Given the description of an element on the screen output the (x, y) to click on. 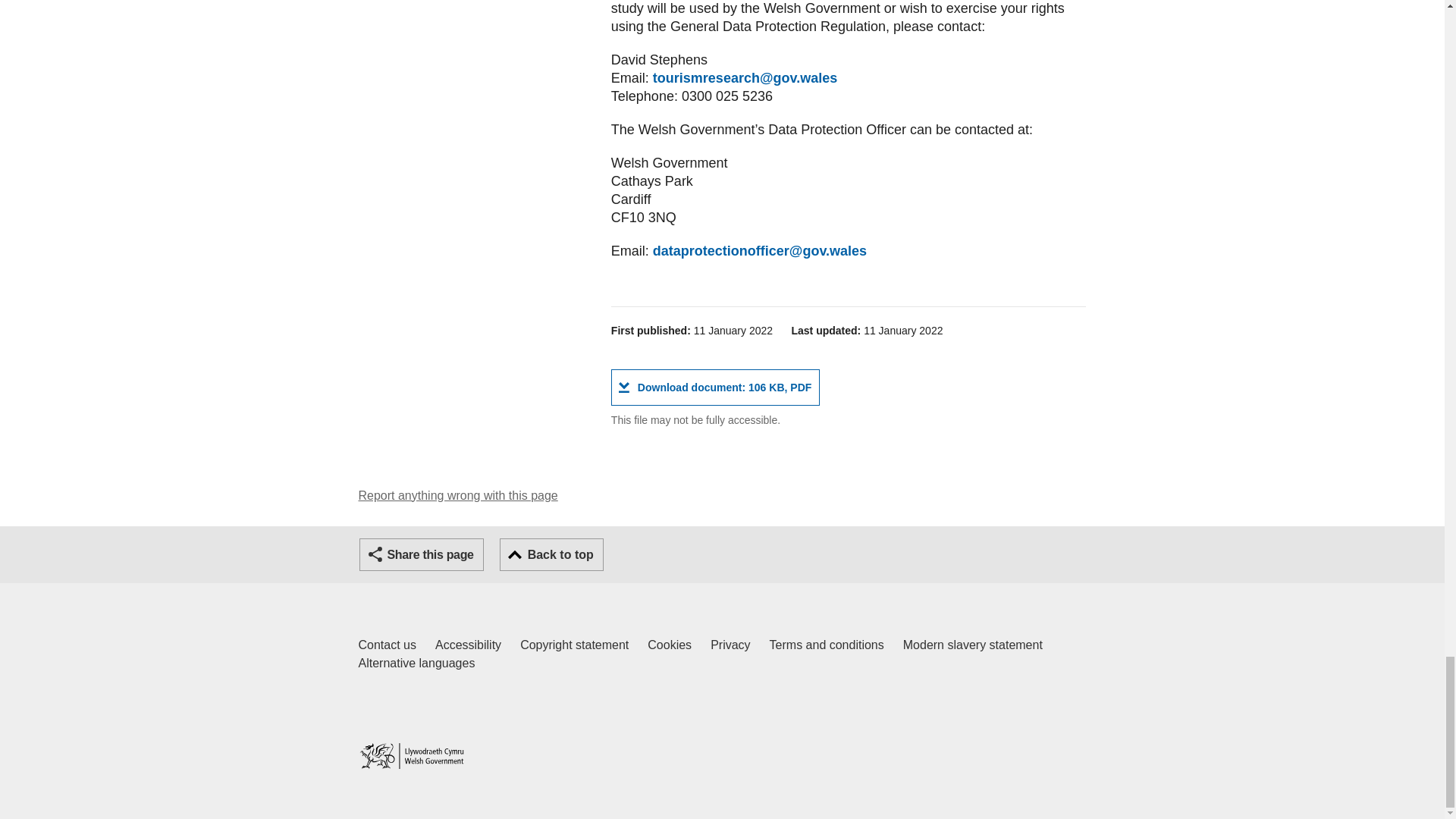
Back to top (551, 554)
Accessibility (467, 645)
Privacy (386, 645)
Terms and conditions (729, 645)
Modern slavery statement (826, 645)
Report anything wrong with this page (972, 645)
Alternative languages (715, 387)
Cookies (457, 495)
